Given the description of an element on the screen output the (x, y) to click on. 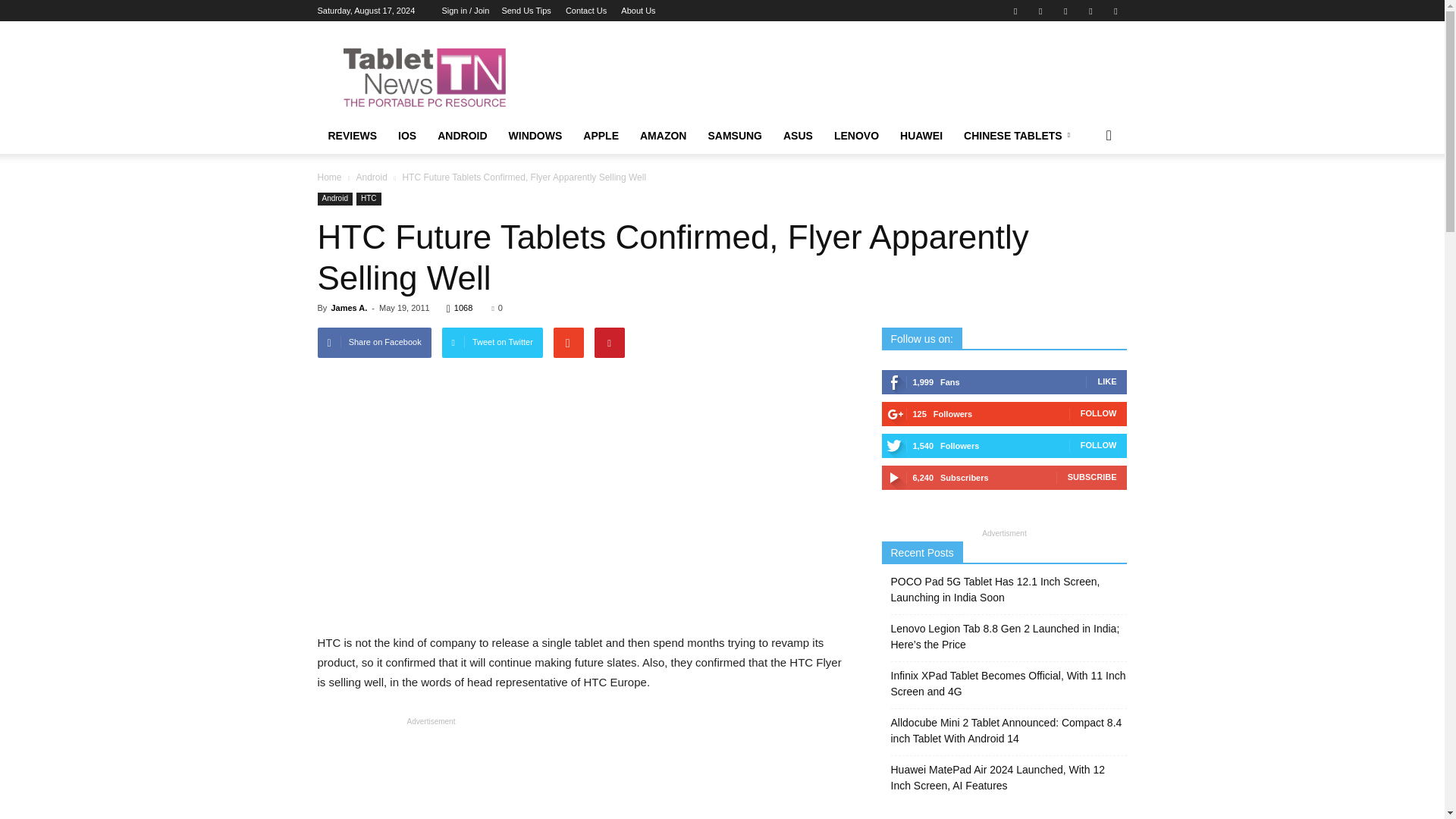
Mail (1065, 10)
Tablet-News.com (445, 76)
Youtube (1114, 10)
About Us (638, 10)
Facebook (1015, 10)
View all posts in Android (372, 176)
Send Us Tips (525, 10)
Twitter (1090, 10)
Contact Us (586, 10)
